Given the description of an element on the screen output the (x, y) to click on. 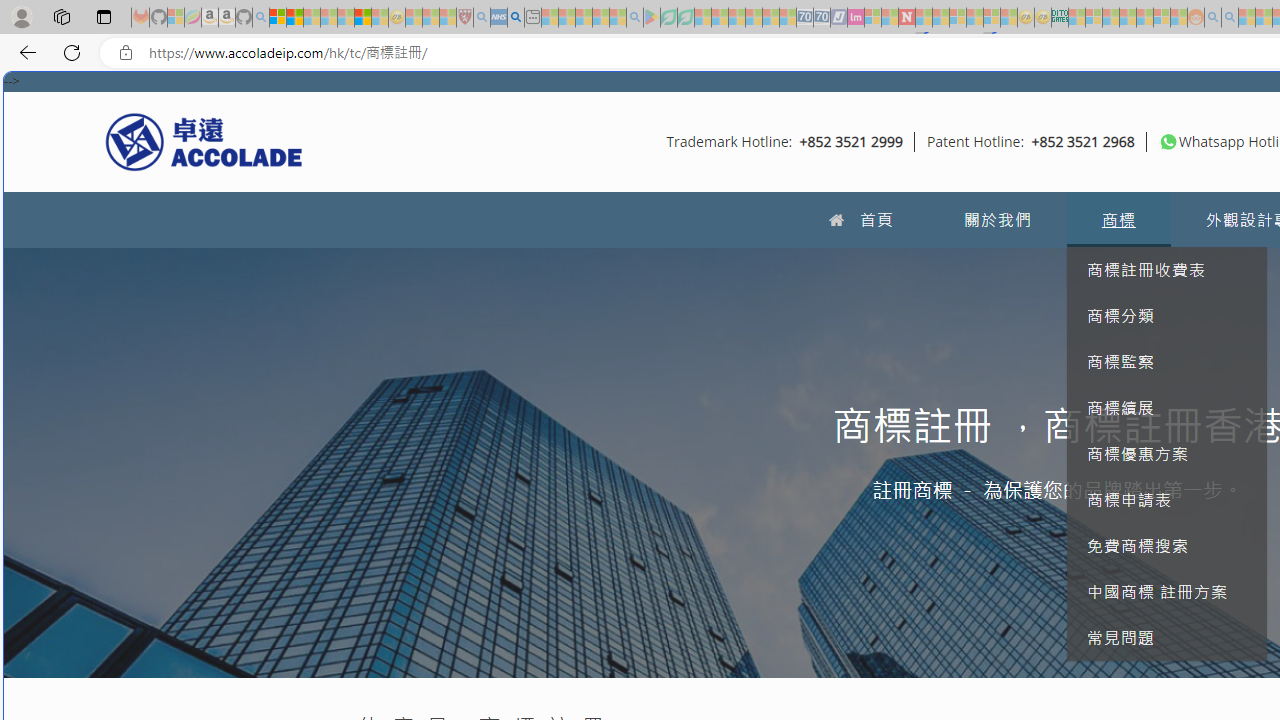
To get missing image descriptions, open the context menu. (1168, 141)
Microsoft-Report a Concern to Bing - Sleeping (175, 17)
Terms of Use Agreement - Sleeping (668, 17)
Latest Politics News & Archive | Newsweek.com - Sleeping (906, 17)
Kinda Frugal - MSN - Sleeping (1144, 17)
